Given the description of an element on the screen output the (x, y) to click on. 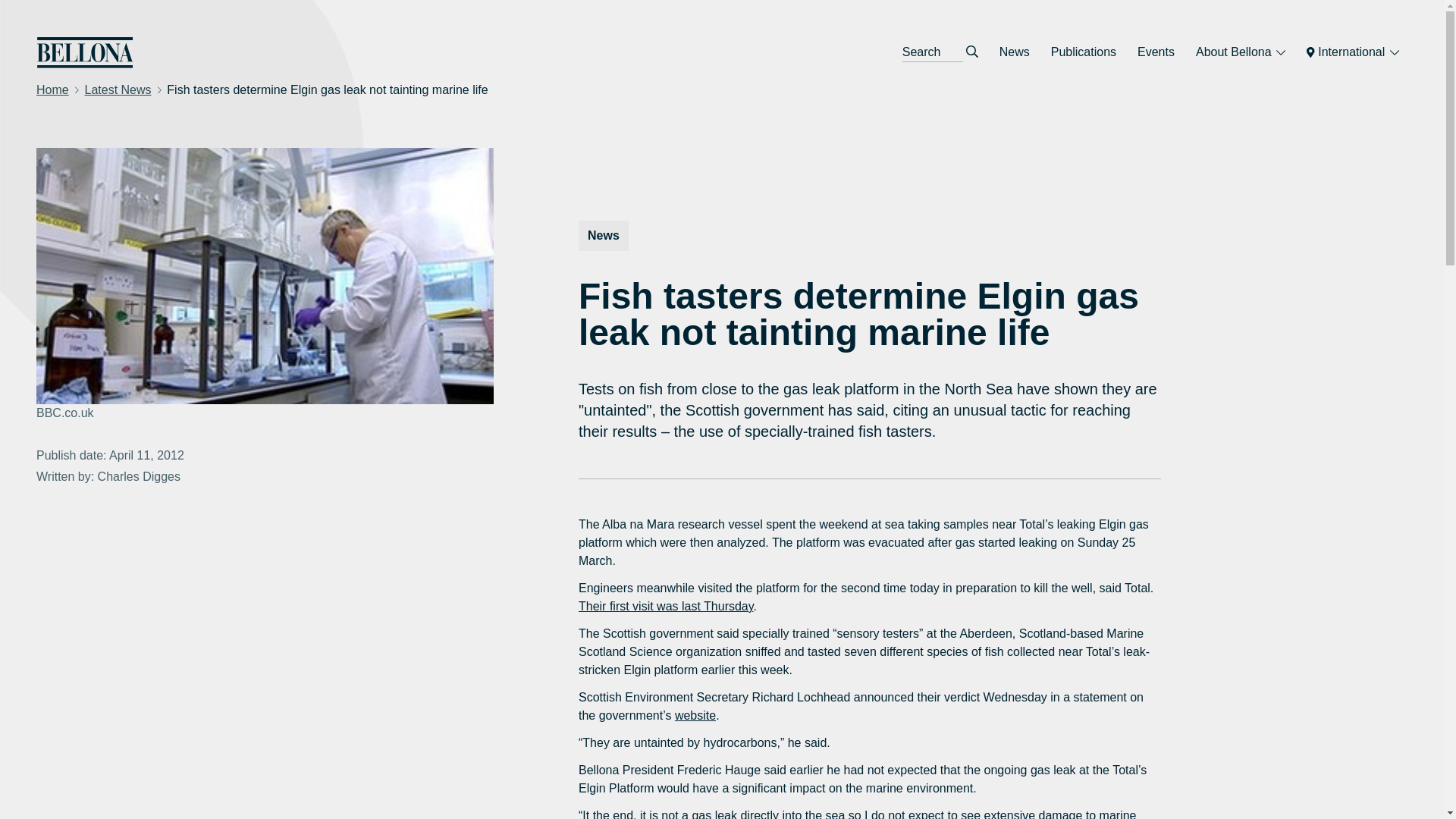
About Bellona (1240, 51)
Events (1155, 51)
Home (52, 90)
Publications (1083, 51)
Latest News (117, 90)
News (1014, 51)
International (1352, 51)
